Given the description of an element on the screen output the (x, y) to click on. 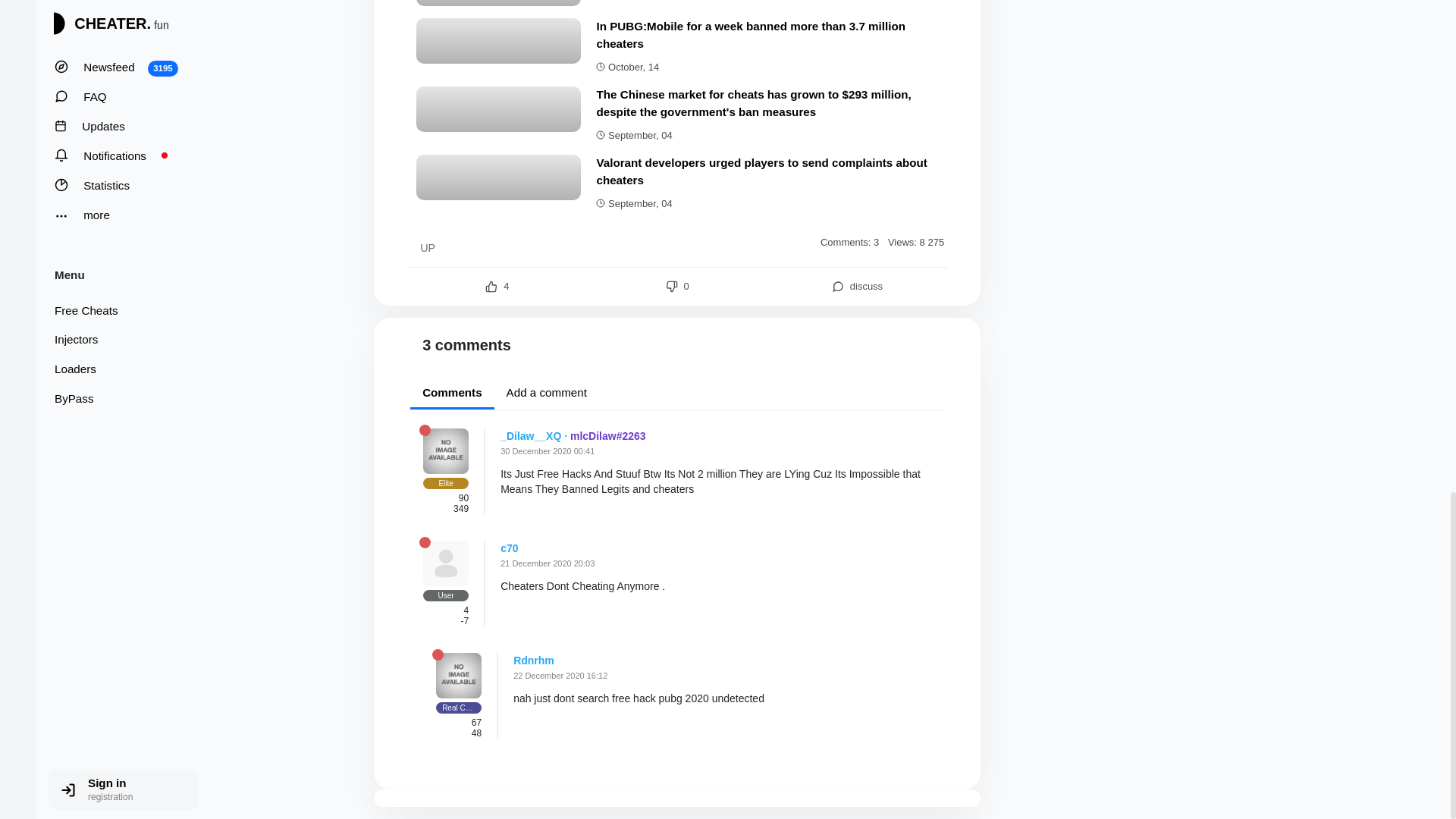
Rdnrhm (533, 660)
Comments (451, 394)
discuss (856, 286)
4 (496, 286)
UP (427, 248)
c70 (509, 548)
0 (676, 286)
Add a comment (546, 392)
